Given the description of an element on the screen output the (x, y) to click on. 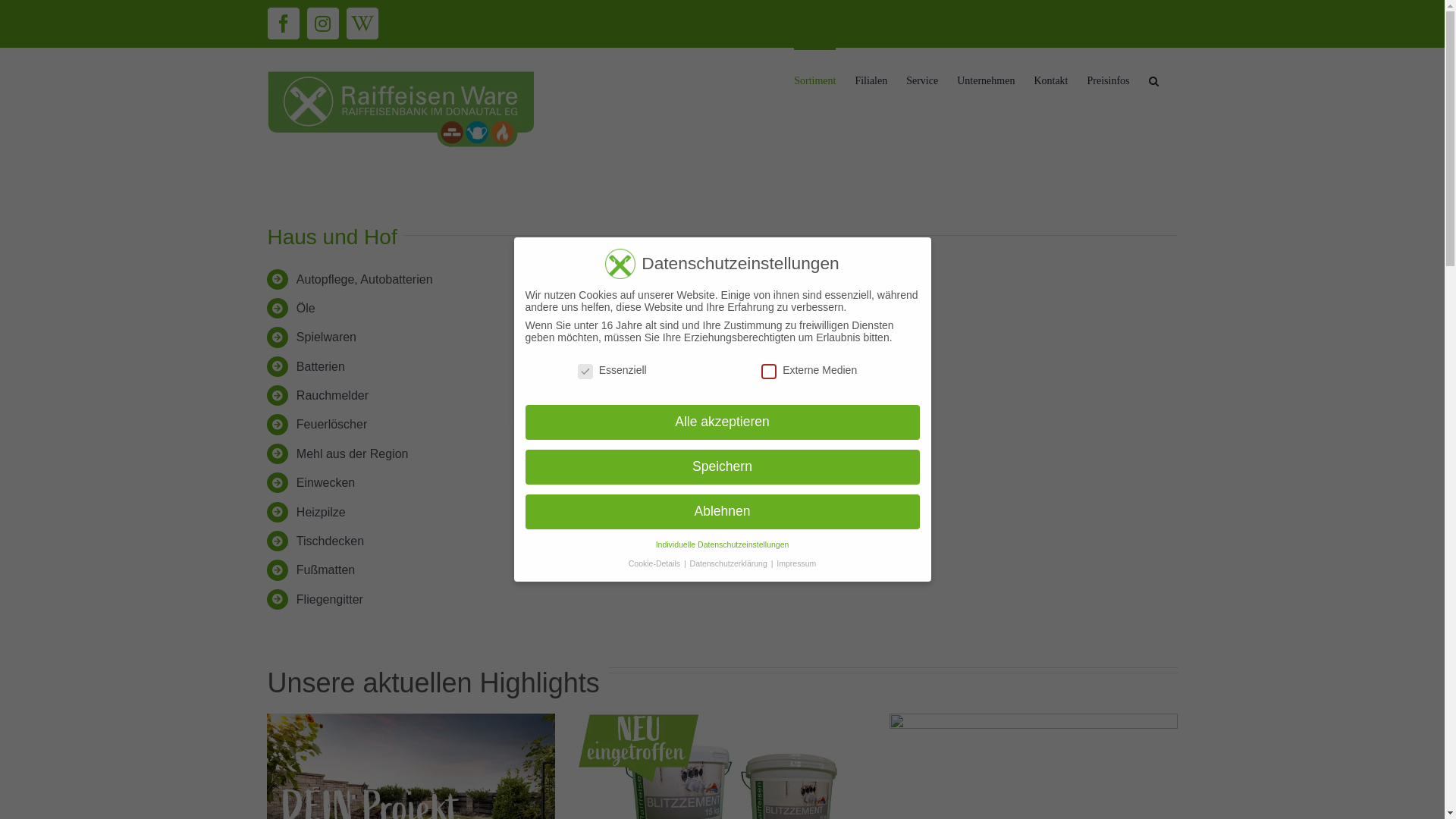
Facebook Element type: text (282, 23)
Unternehmen Element type: text (985, 79)
Sortiment Element type: text (814, 79)
Individuelle Datenschutzeinstellungen Element type: text (722, 544)
Impressum Element type: text (795, 562)
Suche Element type: hover (1152, 79)
info@Raiffeisen-Ware.Bayern Element type: text (1116, 23)
Cookie-Details Element type: text (655, 562)
Alle akzeptieren Element type: text (721, 421)
Ablehnen Element type: text (721, 511)
Service Element type: text (922, 79)
Kontakt Element type: text (1050, 79)
Preisinfos Element type: text (1108, 79)
Speichern Element type: text (721, 466)
Instagram Element type: text (322, 23)
Wikipedia Element type: text (361, 23)
Filialen Element type: text (870, 79)
